Given the description of an element on the screen output the (x, y) to click on. 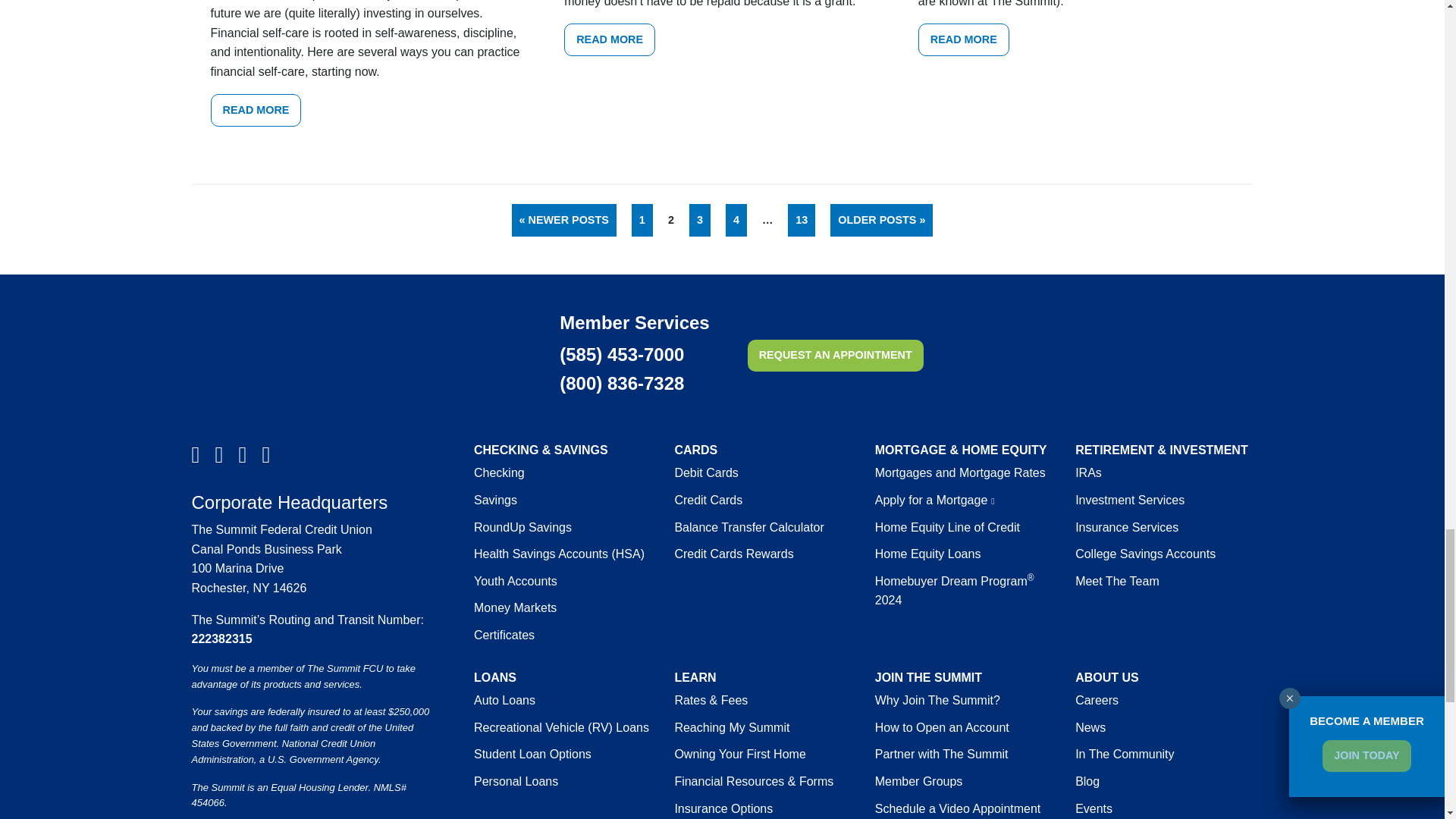
Instagram (218, 454)
LinkedIn (265, 454)
YouTube (241, 454)
Facebook (194, 454)
